Given the description of an element on the screen output the (x, y) to click on. 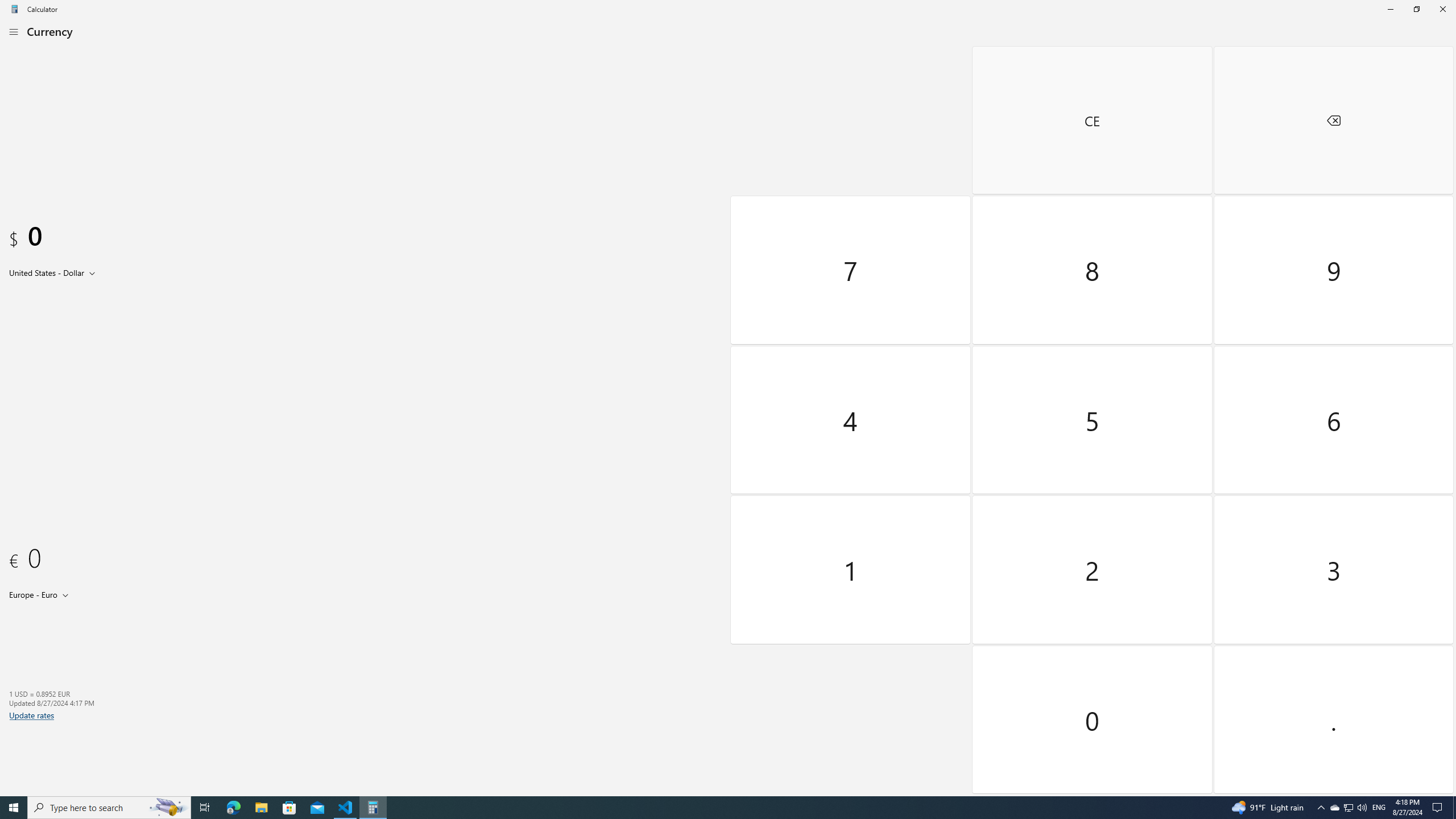
Output unit (41, 593)
Four (850, 419)
Minimize Calculator (1390, 9)
Input unit (54, 272)
Zero (1092, 719)
Clear entry (1092, 119)
Calculator - 1 running window (373, 807)
Six (1333, 419)
